Given the description of an element on the screen output the (x, y) to click on. 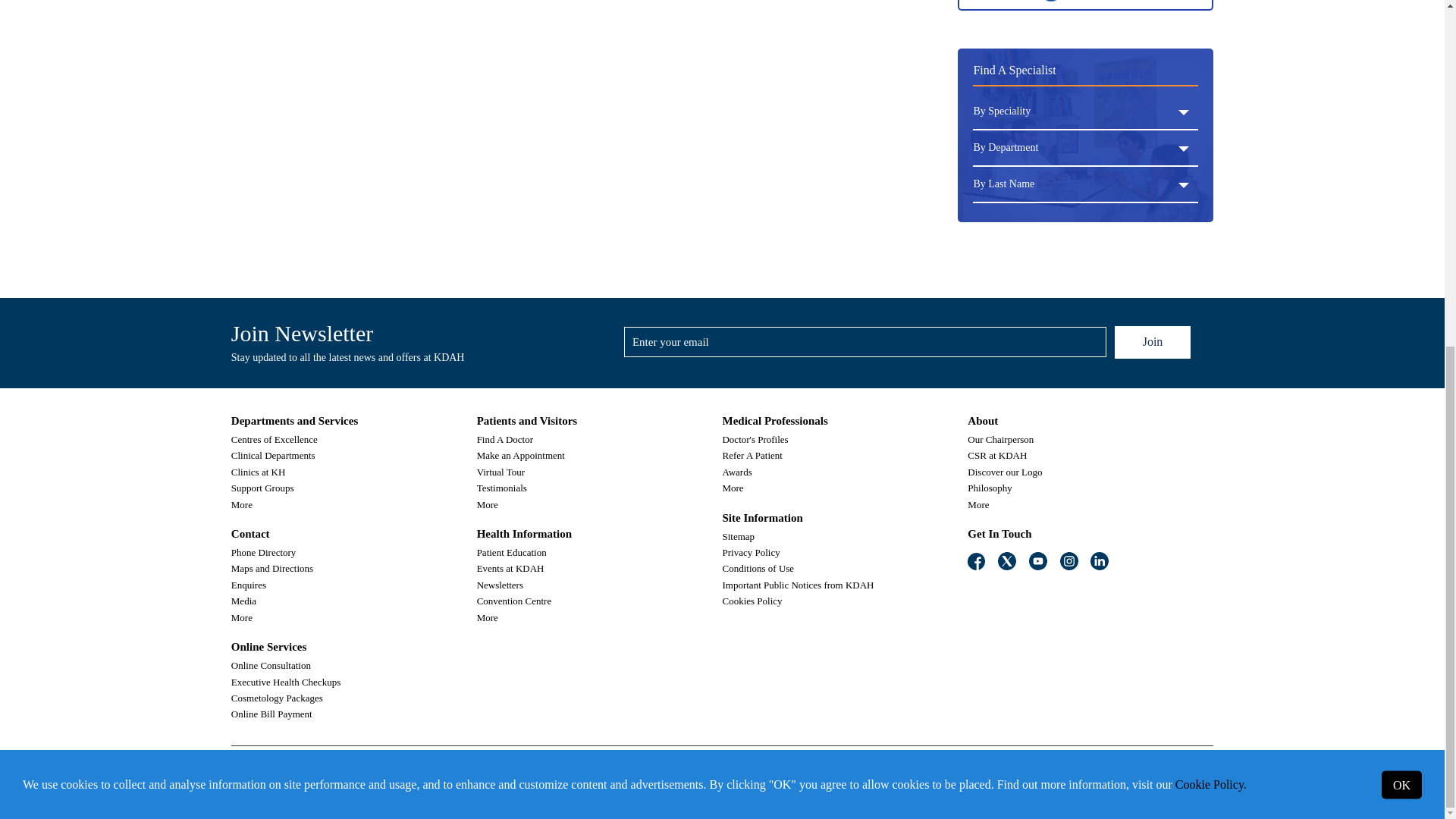
Join (1153, 341)
